Given the description of an element on the screen output the (x, y) to click on. 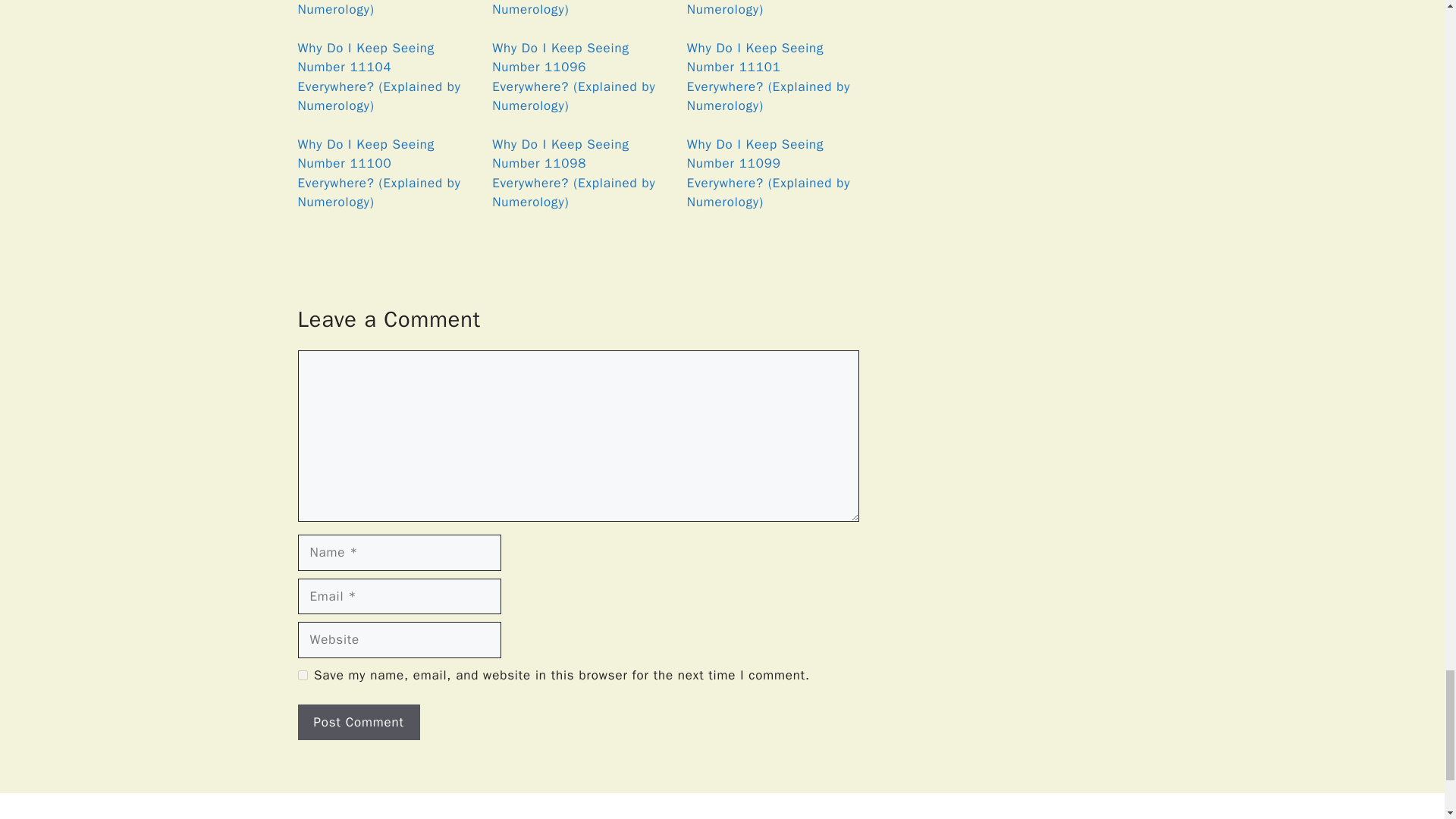
yes (302, 675)
Post Comment (358, 722)
